Given the description of an element on the screen output the (x, y) to click on. 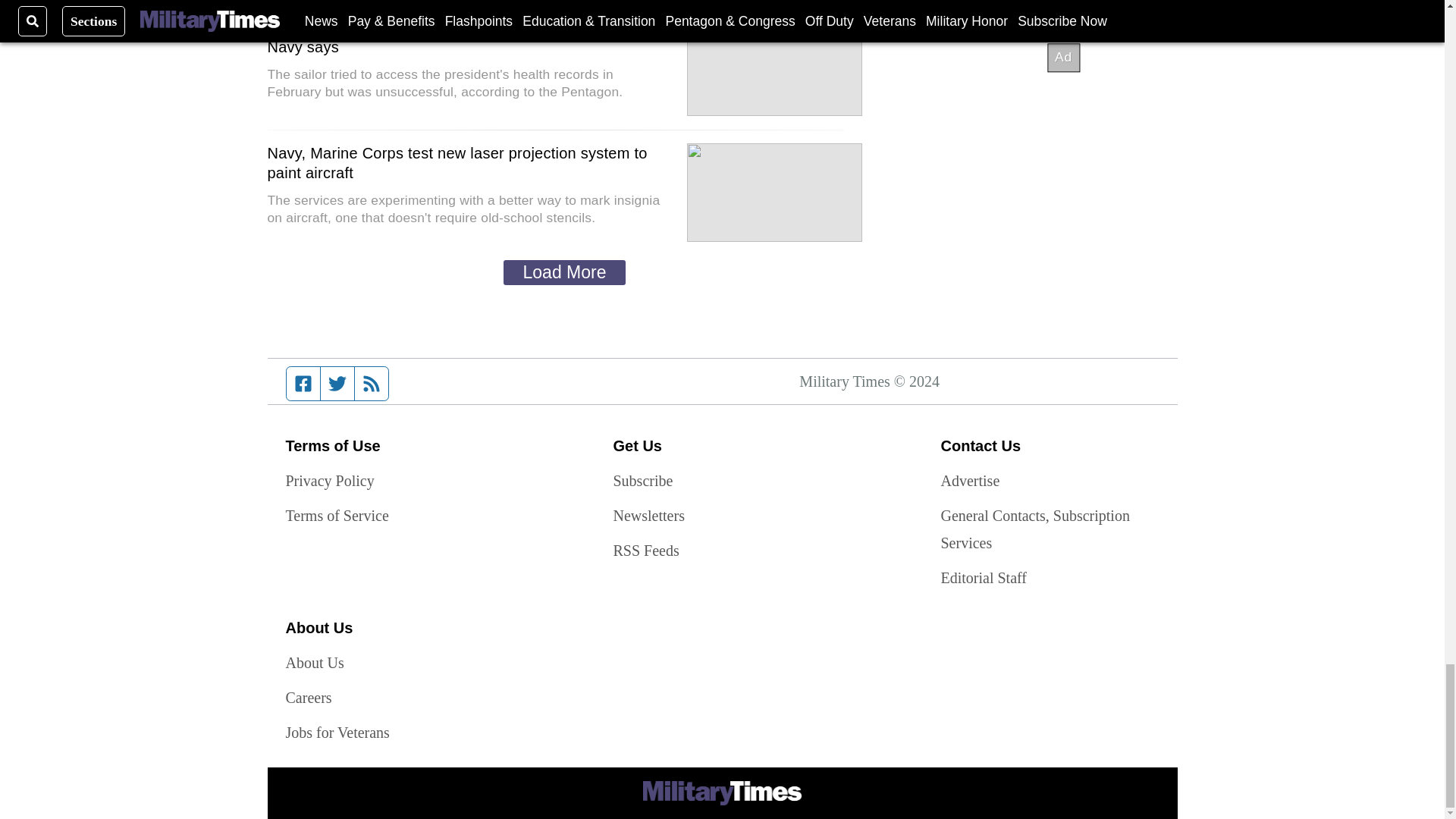
RSS feed (371, 383)
Twitter feed (336, 383)
Facebook page (303, 383)
